Given the description of an element on the screen output the (x, y) to click on. 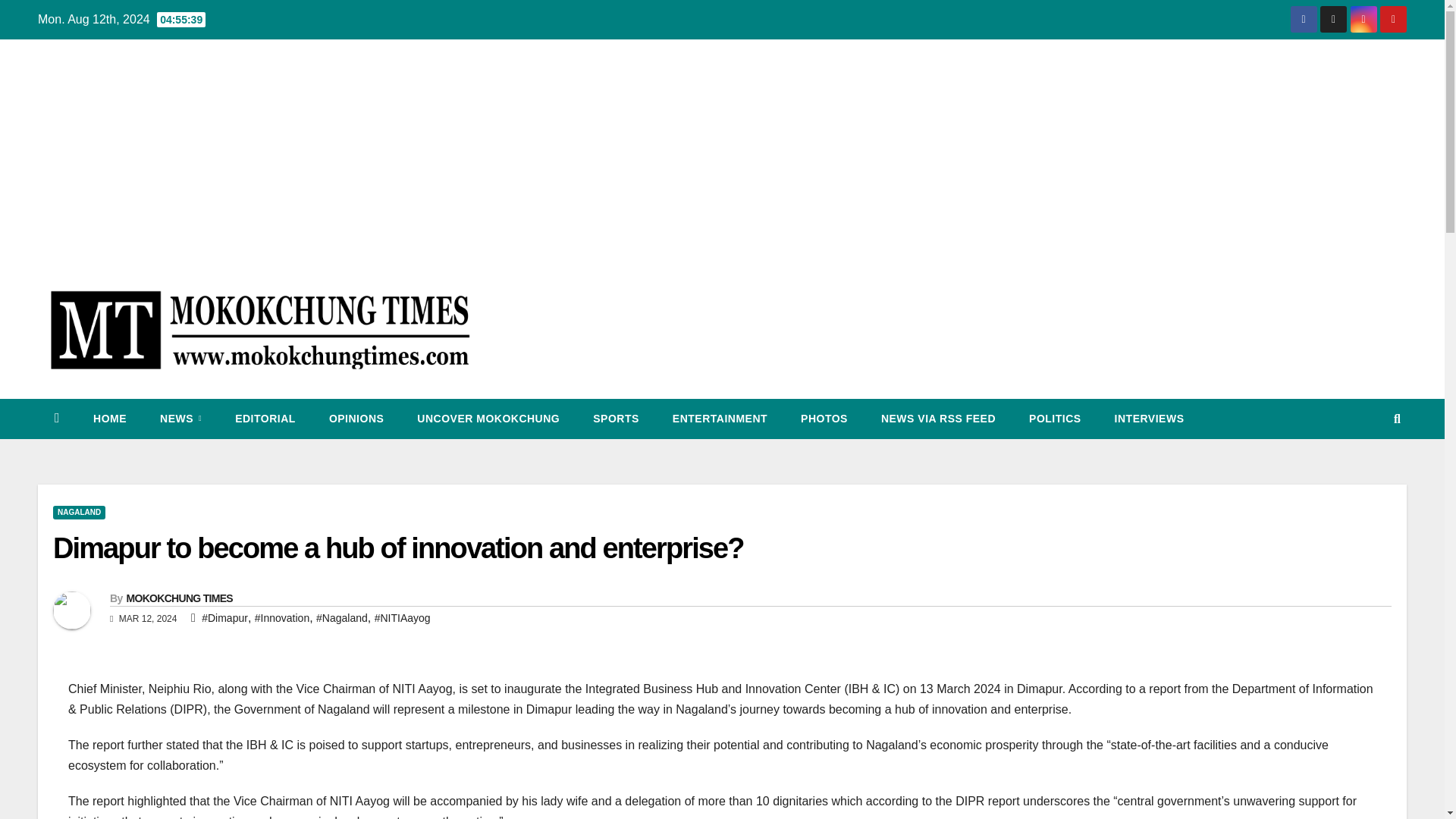
Photos (824, 418)
Sports (616, 418)
ENTERTAINMENT (720, 418)
SPORTS (616, 418)
INTERVIEWS (1149, 418)
Uncover Mokokchung (488, 418)
Editorial (265, 418)
OPINIONS (356, 418)
MOKOKCHUNG TIMES (178, 598)
Dimapur to become a hub of innovation and enterprise? (398, 548)
